Given the description of an element on the screen output the (x, y) to click on. 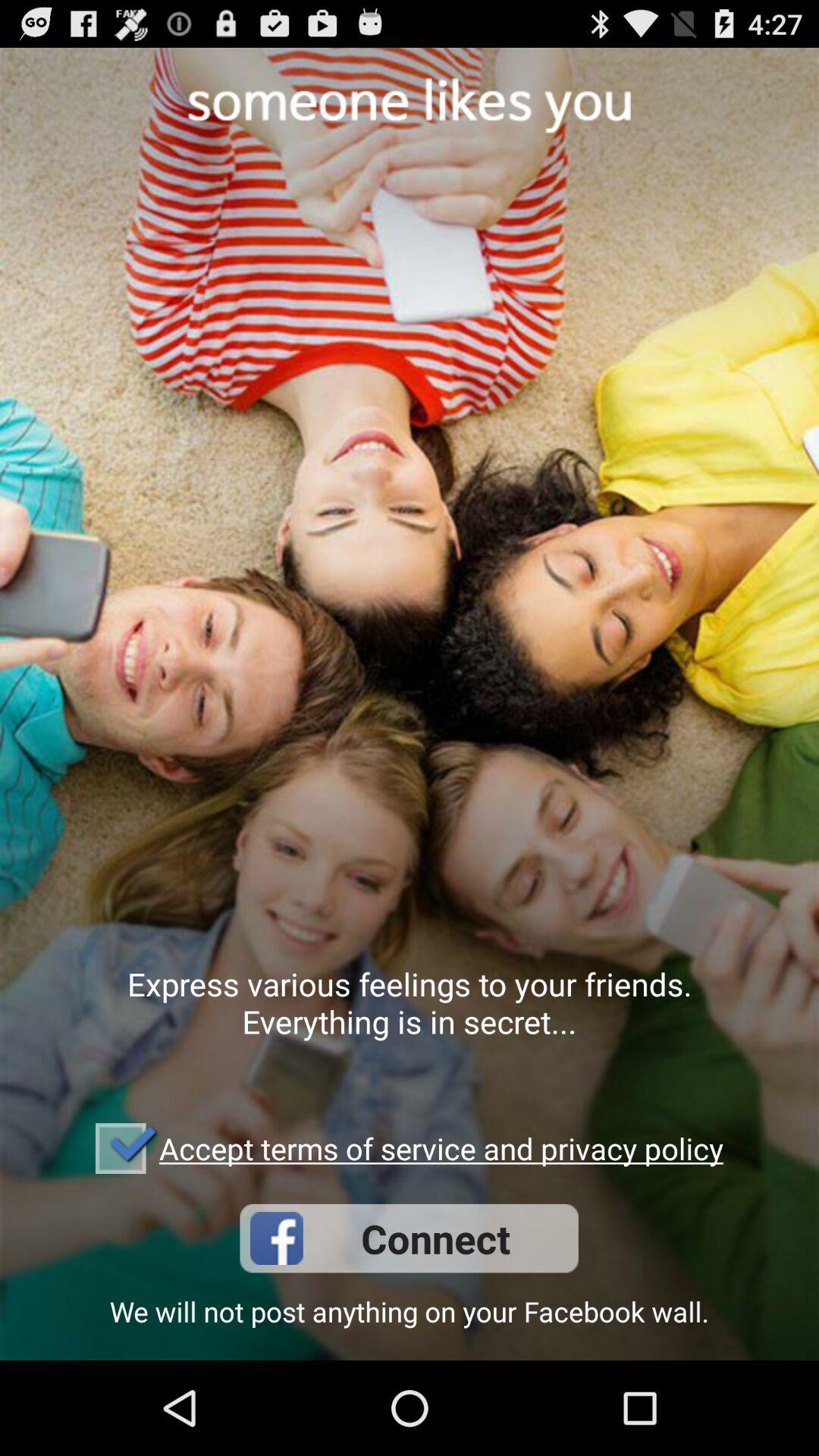
choose the connect item (409, 1238)
